Given the description of an element on the screen output the (x, y) to click on. 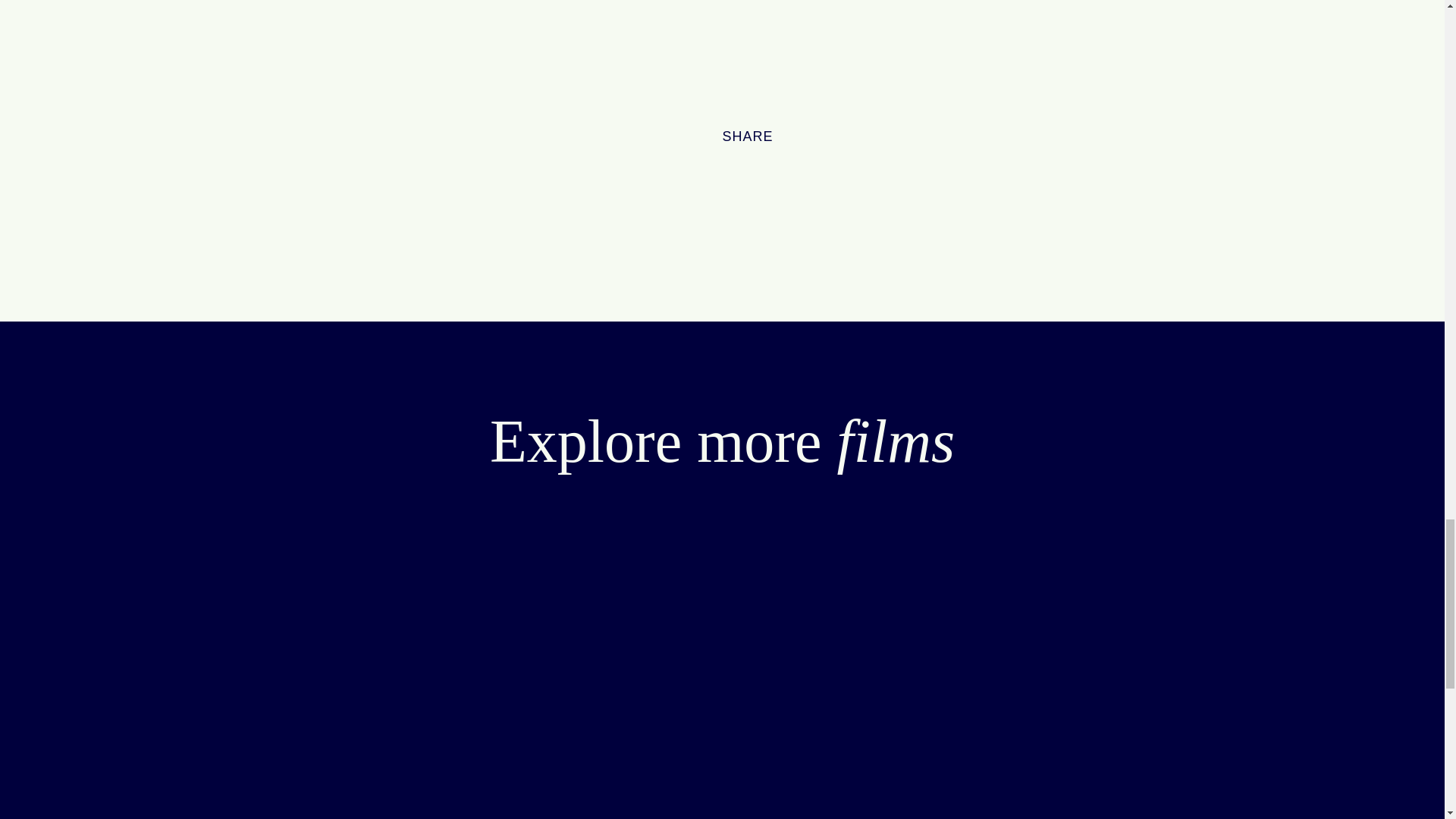
Explore more films (721, 441)
